Given the description of an element on the screen output the (x, y) to click on. 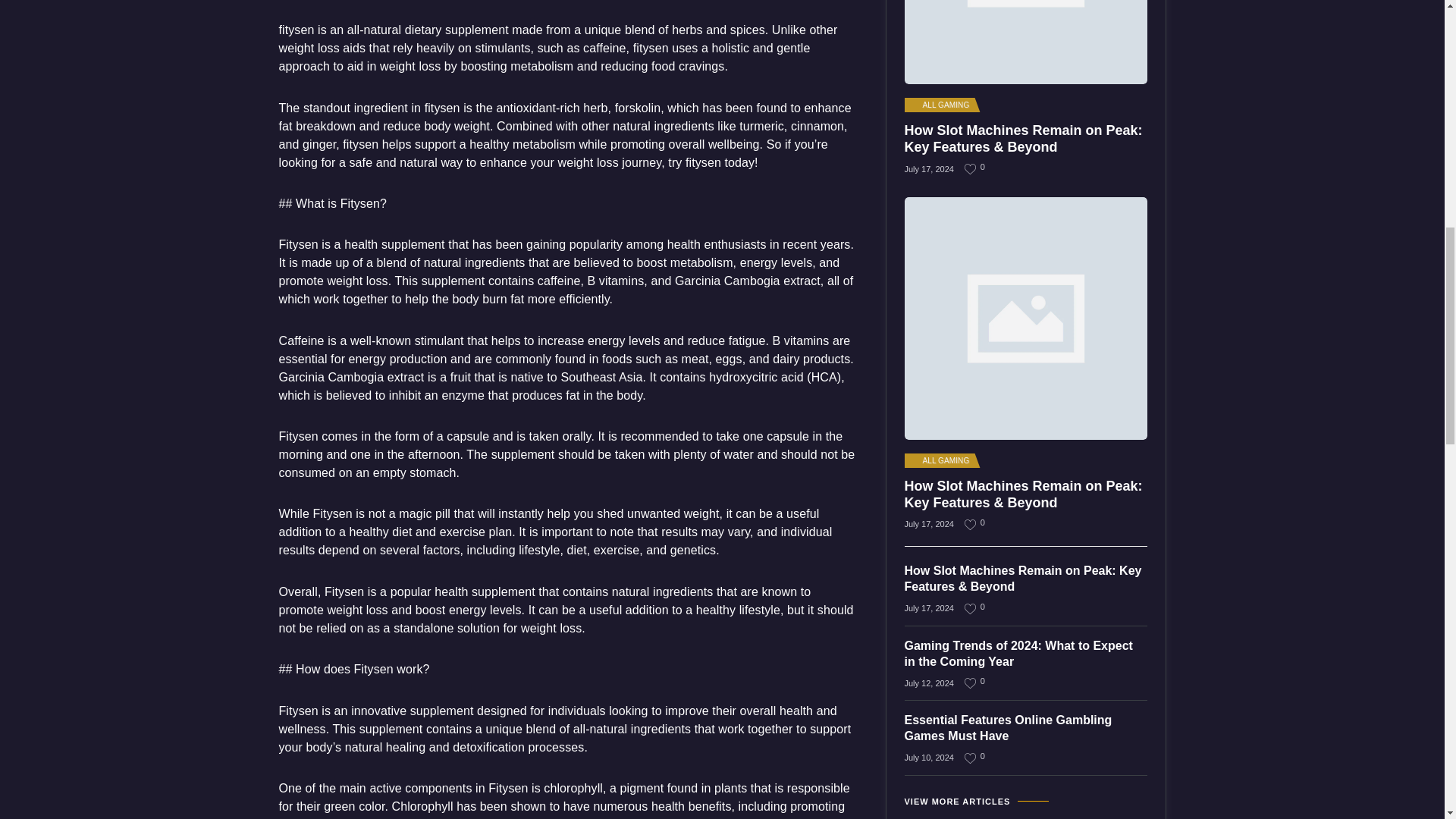
Like (971, 168)
Like (971, 523)
Like (971, 682)
View all posts in All Gaming (940, 104)
Like (971, 757)
Like (971, 608)
View all posts in All Gaming (940, 461)
